Given the description of an element on the screen output the (x, y) to click on. 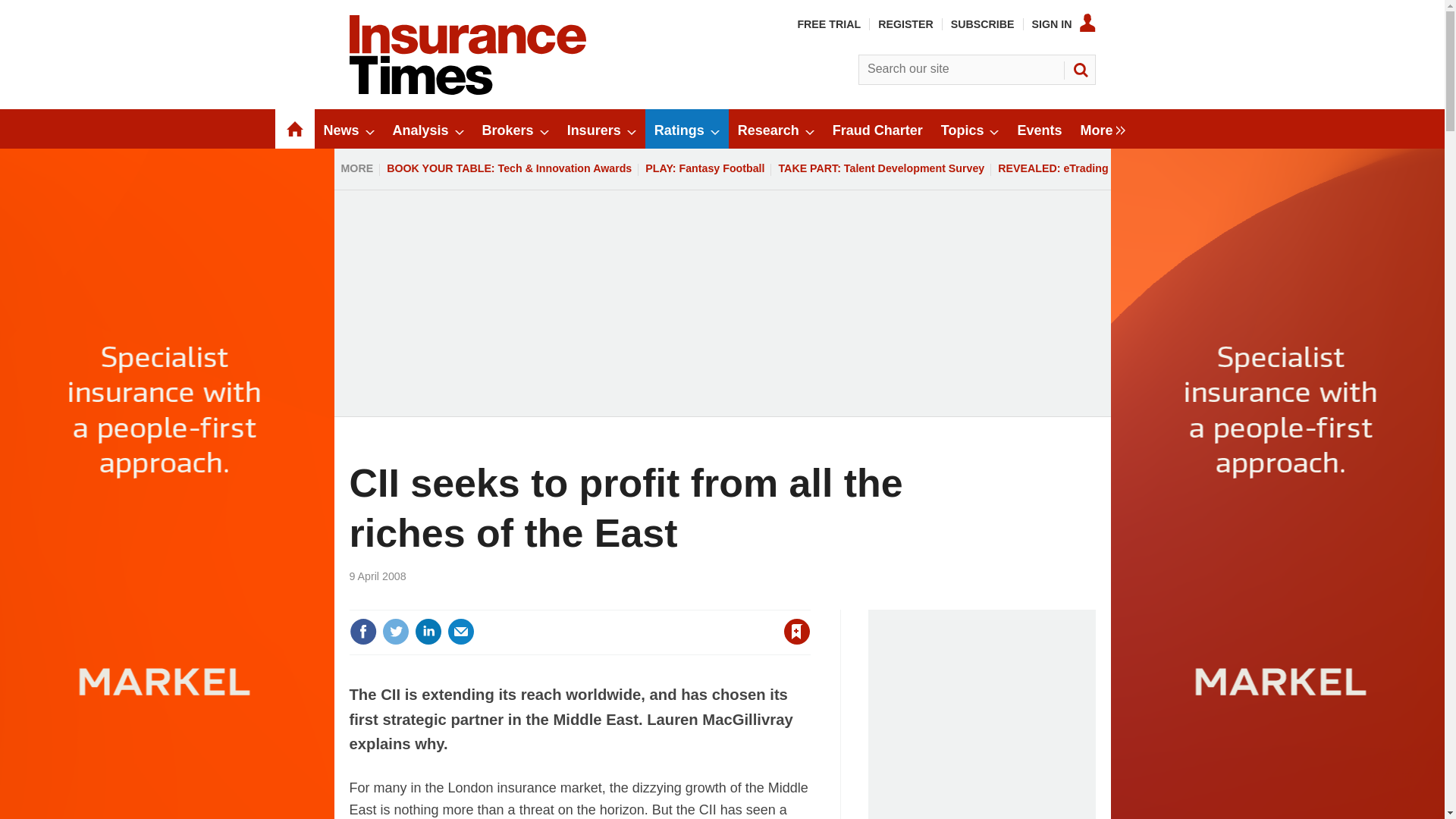
SIGN IN (1064, 24)
PLAY: Fantasy Football (705, 168)
SEARCH (1079, 69)
REVEALED: eTrading survey results (1091, 168)
TAKE PART: Talent Development Survey (881, 168)
3rd party ad content (980, 714)
Share this on Facebook (362, 631)
SUBSCRIBE (982, 24)
Insert Logo text (467, 90)
